Given the description of an element on the screen output the (x, y) to click on. 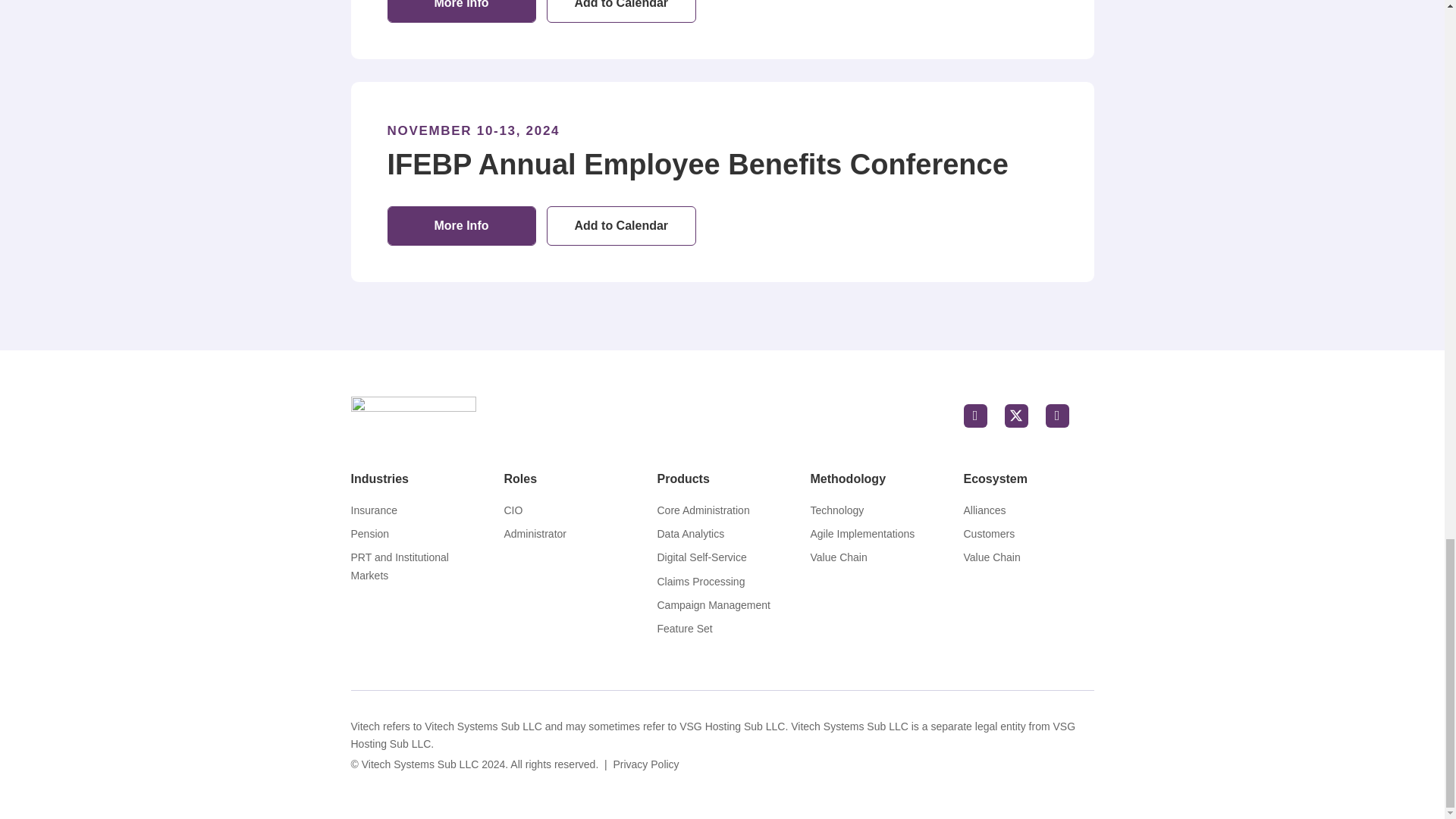
Facebook (974, 415)
Twitter (1015, 415)
LinkedIn (1056, 415)
